Given the description of an element on the screen output the (x, y) to click on. 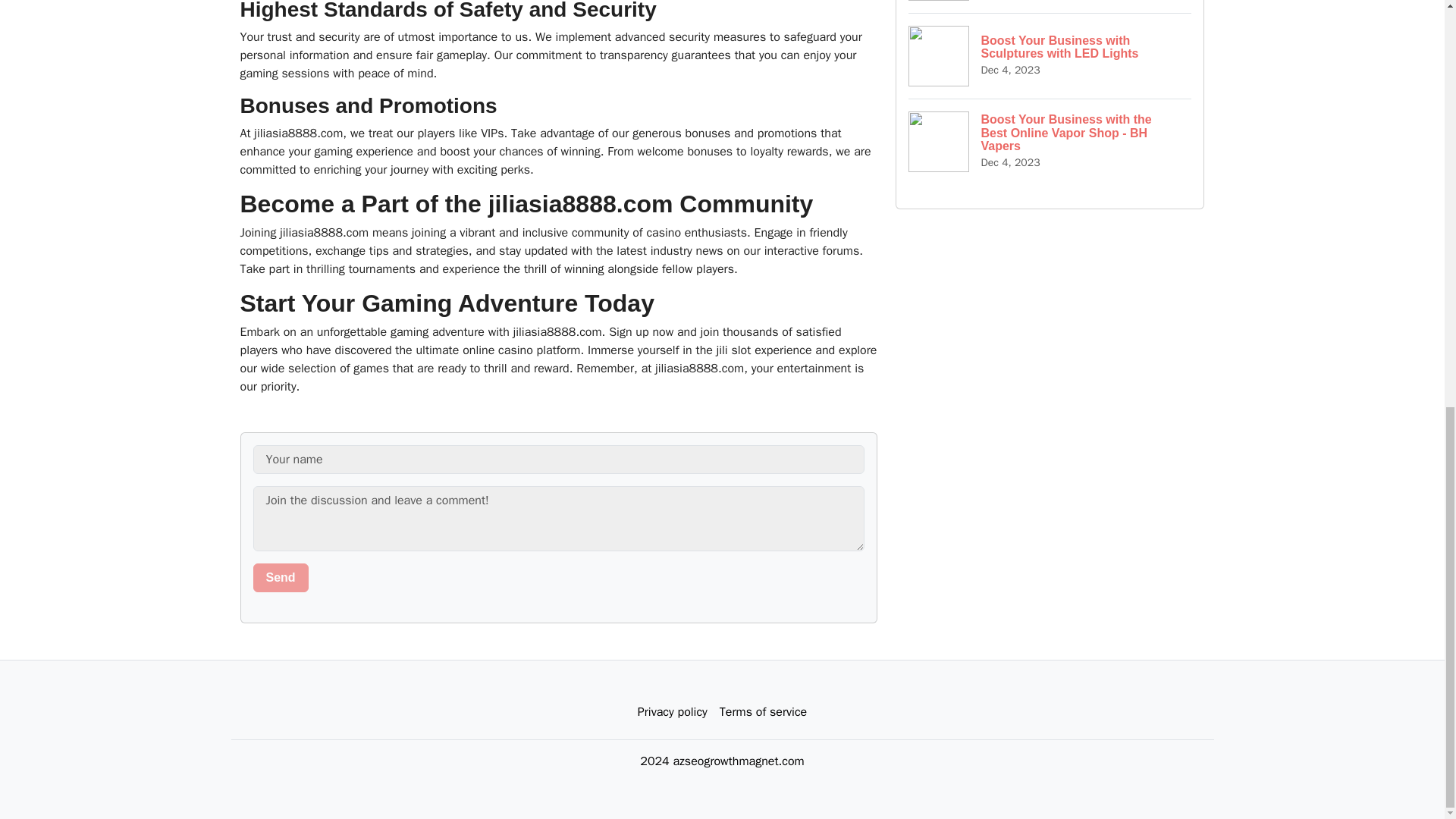
Send (280, 577)
Terms of service (762, 711)
Send (280, 577)
Privacy policy (672, 711)
